Given the description of an element on the screen output the (x, y) to click on. 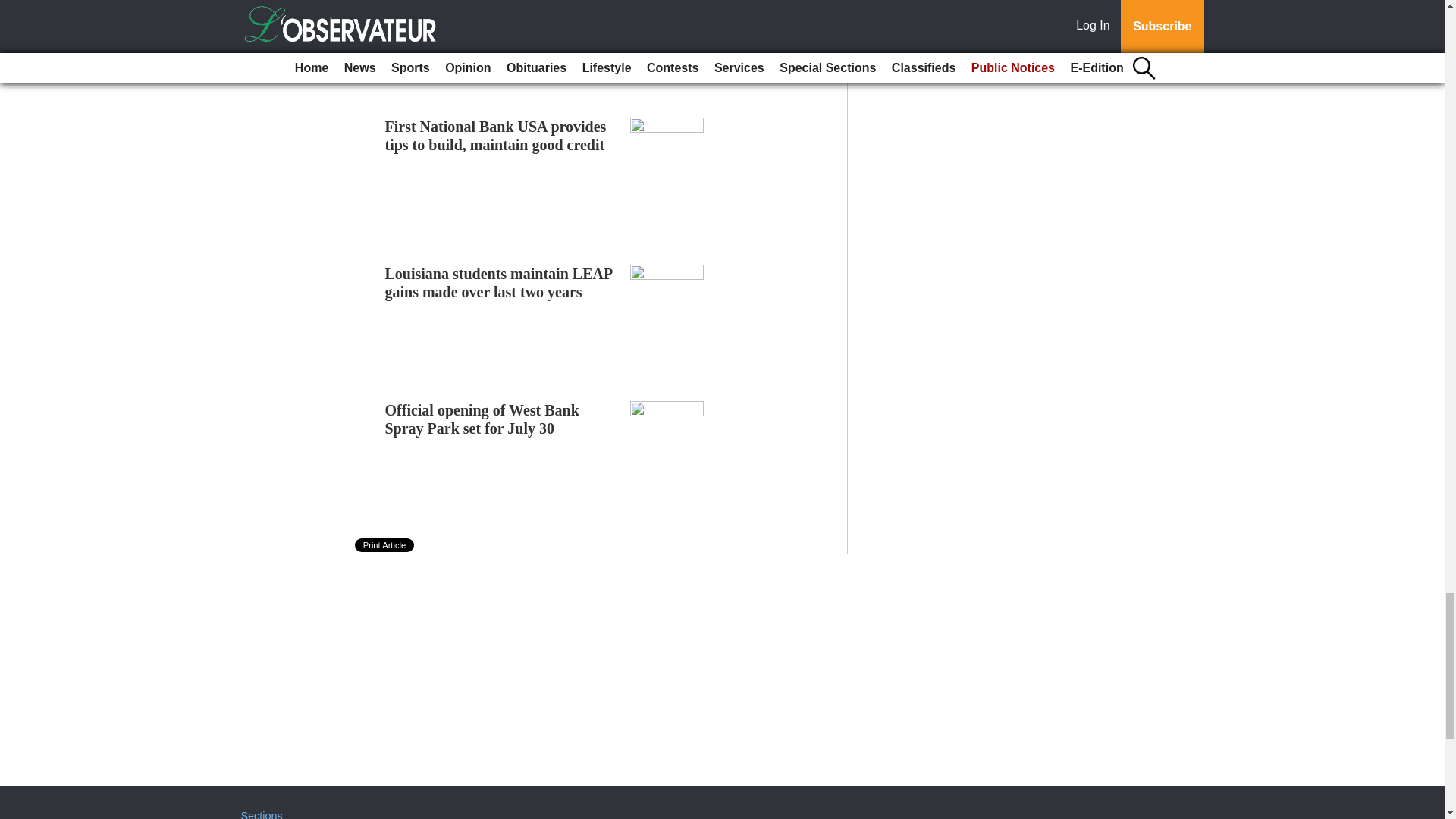
Official opening of West Bank Spray Park set for July 30 (482, 419)
Official opening of West Bank Spray Park set for July 30 (482, 419)
Print Article (384, 545)
